Given the description of an element on the screen output the (x, y) to click on. 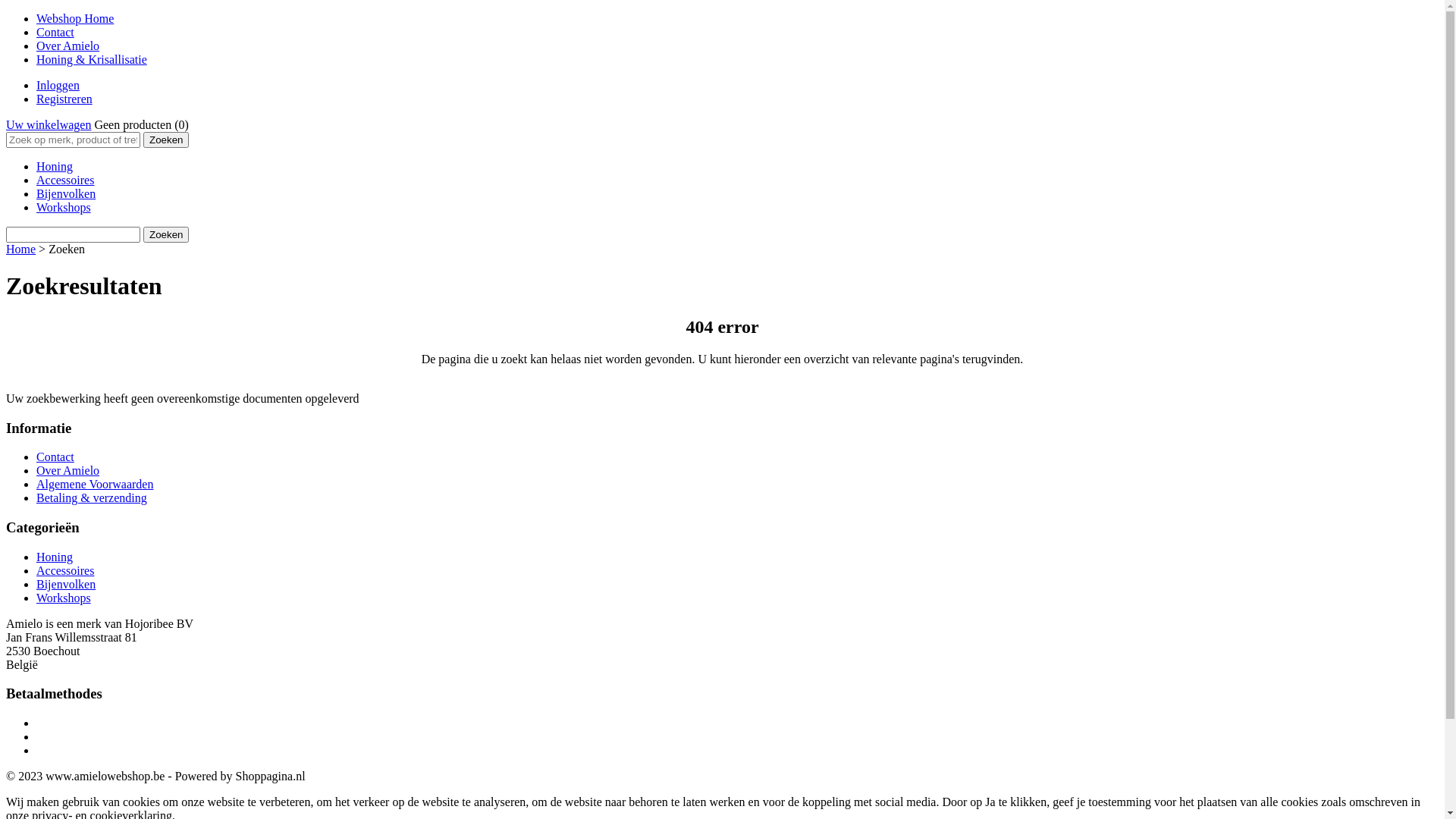
Zoeken Element type: text (165, 234)
Betaling & verzending Element type: text (91, 497)
Uw winkelwagen Element type: text (48, 124)
Workshops Element type: text (63, 597)
Bijenvolken Element type: text (65, 583)
Algemene Voorwaarden Element type: text (94, 483)
Honing Element type: text (54, 166)
Honing Element type: text (54, 556)
Webshop Home Element type: text (74, 18)
Ideal Element type: hover (737, 723)
Contact Element type: text (55, 456)
Inloggen Element type: text (57, 84)
Zoeken Element type: text (165, 139)
Over Amielo Element type: text (67, 470)
Accessoires Element type: text (65, 570)
Bijenvolken Element type: text (65, 193)
Honing & Krisallisatie Element type: text (91, 59)
Banktransfer Element type: hover (737, 750)
Home Element type: text (20, 248)
Registreren Element type: text (64, 98)
Bancontact Element type: hover (737, 736)
Over Amielo Element type: text (67, 45)
Workshops Element type: text (63, 206)
Contact Element type: text (55, 31)
Accessoires Element type: text (65, 179)
